Given the description of an element on the screen output the (x, y) to click on. 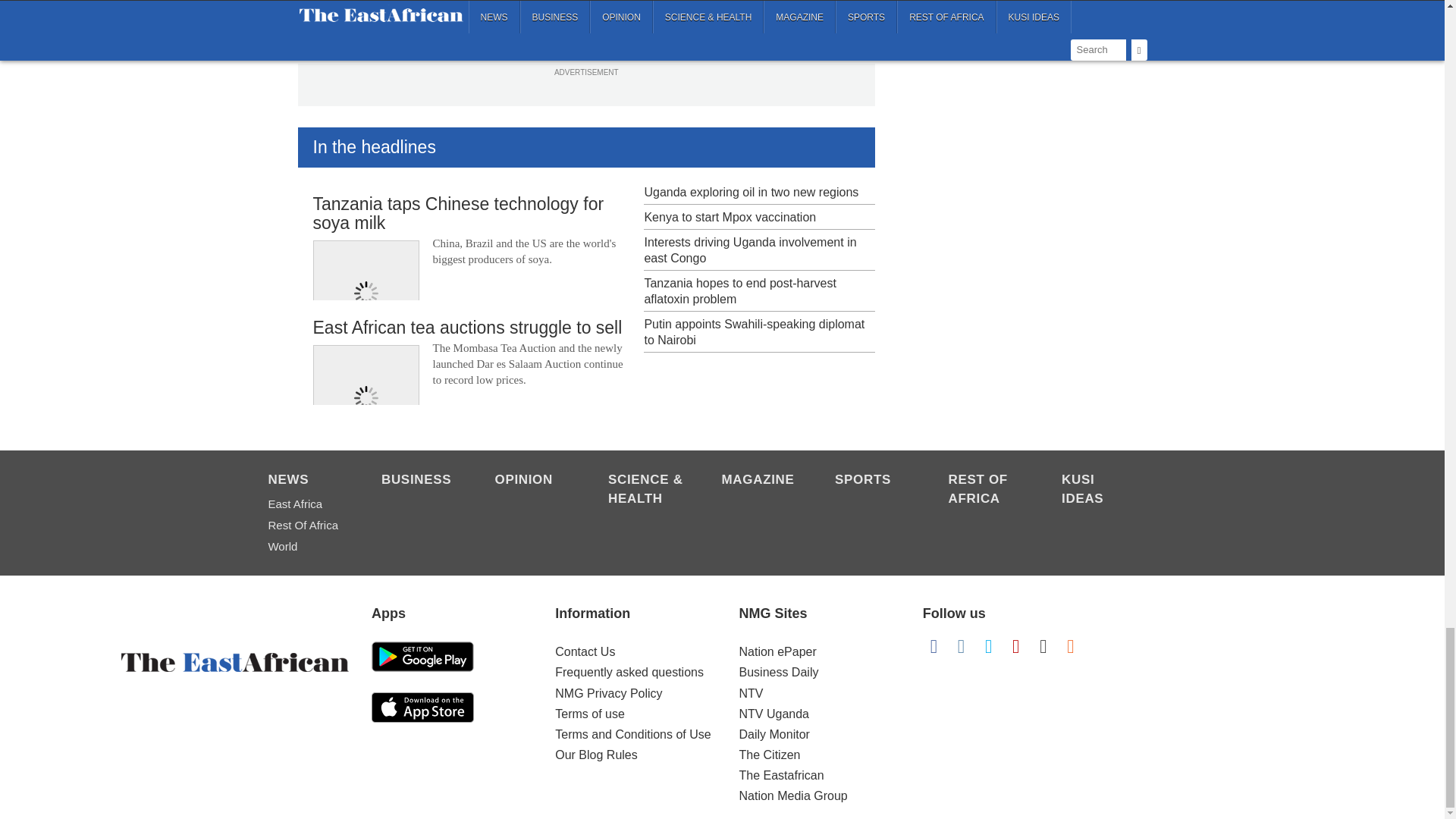
Sports (873, 480)
NMG Privacy Policy (608, 692)
East Africa (306, 504)
KUSI IDEAS (1099, 490)
Rest of Africa (987, 490)
Opinion (533, 480)
News (306, 480)
Contact Us (584, 651)
Rest of Africa (306, 525)
Business (419, 480)
